Given the description of an element on the screen output the (x, y) to click on. 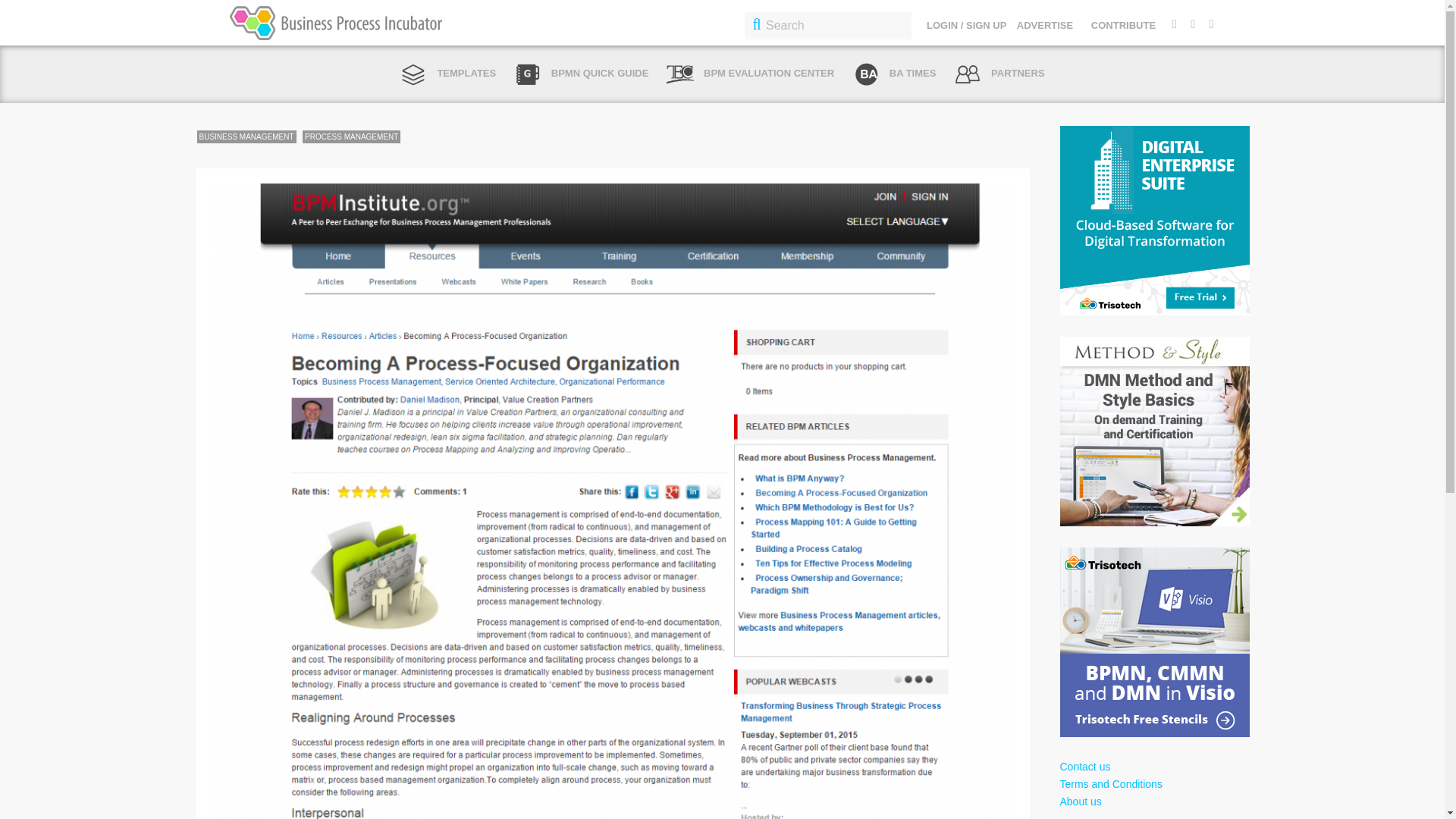
PROCESS MANAGEMENT (351, 136)
BUSINESS MANAGEMENT (246, 136)
BPM EVALUATION CENTER (750, 72)
ADVERTISE (1044, 25)
PARTNERS (999, 72)
Contact us (1084, 766)
BPMN QUICK GUIDE (581, 72)
About us (1080, 801)
BA TIMES (893, 72)
TEMPLATES (447, 72)
CONTRIBUTE (1123, 25)
Partners (999, 72)
Terms and Conditions (1110, 784)
